Given the description of an element on the screen output the (x, y) to click on. 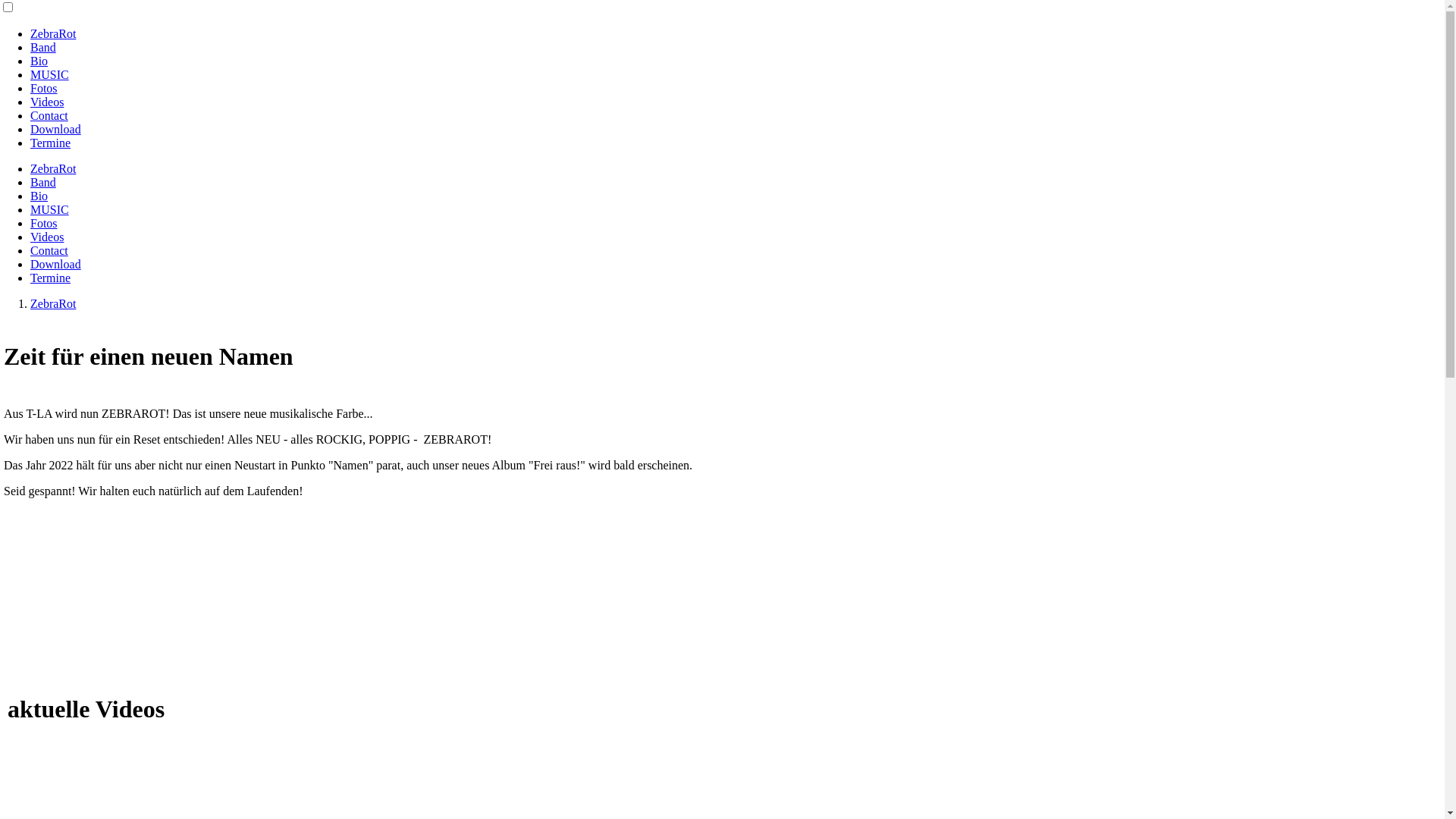
Termine Element type: text (50, 277)
Download Element type: text (55, 263)
Band Element type: text (43, 181)
Termine Element type: text (50, 142)
Bio Element type: text (38, 60)
Contact Element type: text (49, 115)
Videos Element type: text (46, 101)
Fotos Element type: text (43, 87)
Fotos Element type: text (43, 222)
ZebraRot Element type: text (52, 168)
ZebraRot Element type: text (52, 303)
Videos Element type: text (46, 236)
ZebraRot Element type: text (52, 33)
MUSIC Element type: text (49, 74)
Contact Element type: text (49, 250)
Download Element type: text (55, 128)
Band Element type: text (43, 46)
MUSIC Element type: text (49, 209)
Bio Element type: text (38, 195)
